Given the description of an element on the screen output the (x, y) to click on. 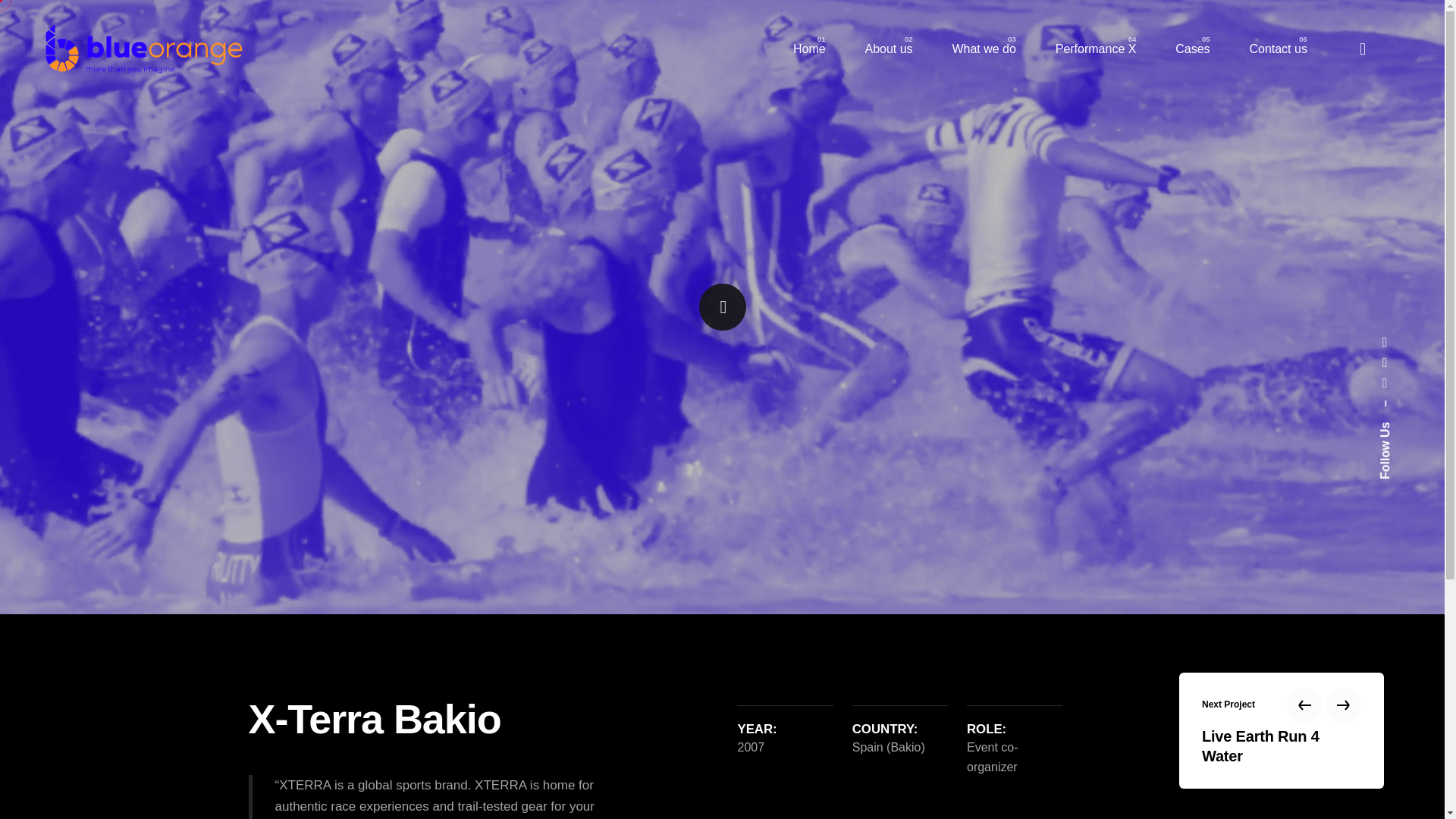
Contact us (1278, 48)
Cases (1192, 48)
What we do (984, 48)
Home (809, 48)
Live Earth Run 4 Water (1281, 745)
Performance X (1095, 48)
About us (889, 48)
